Given the description of an element on the screen output the (x, y) to click on. 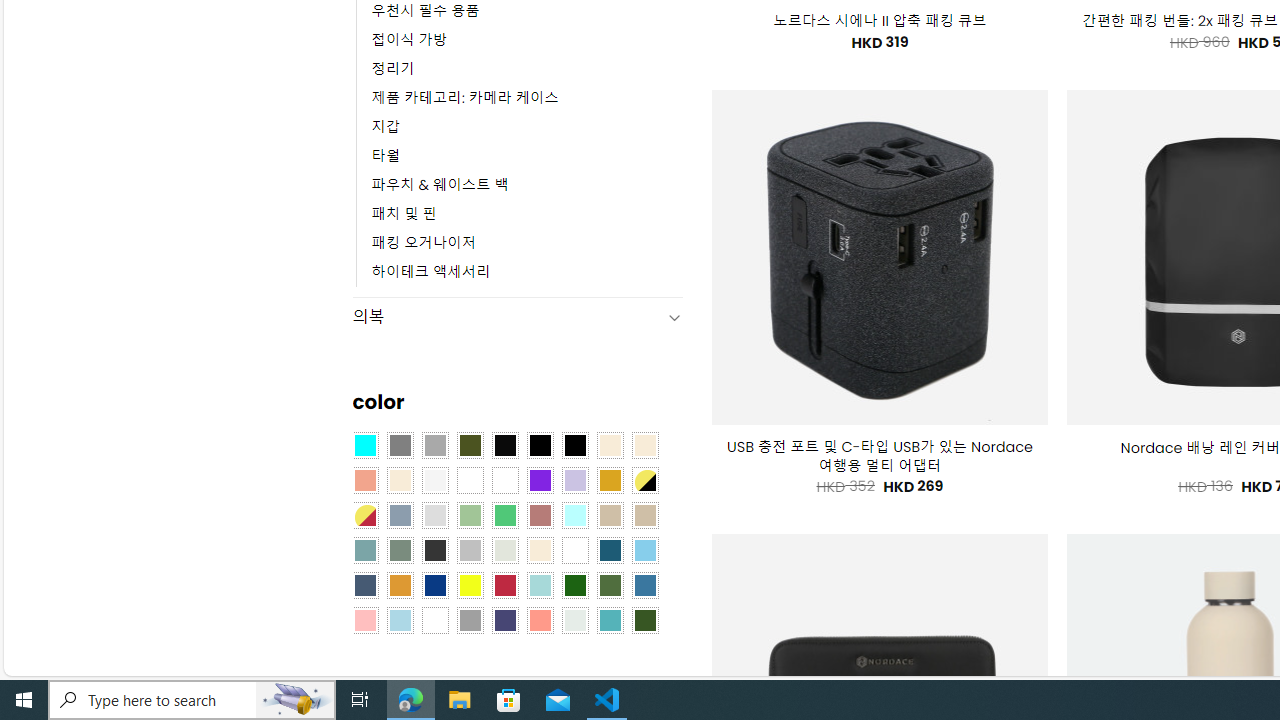
Coral (364, 480)
